Given the description of an element on the screen output the (x, y) to click on. 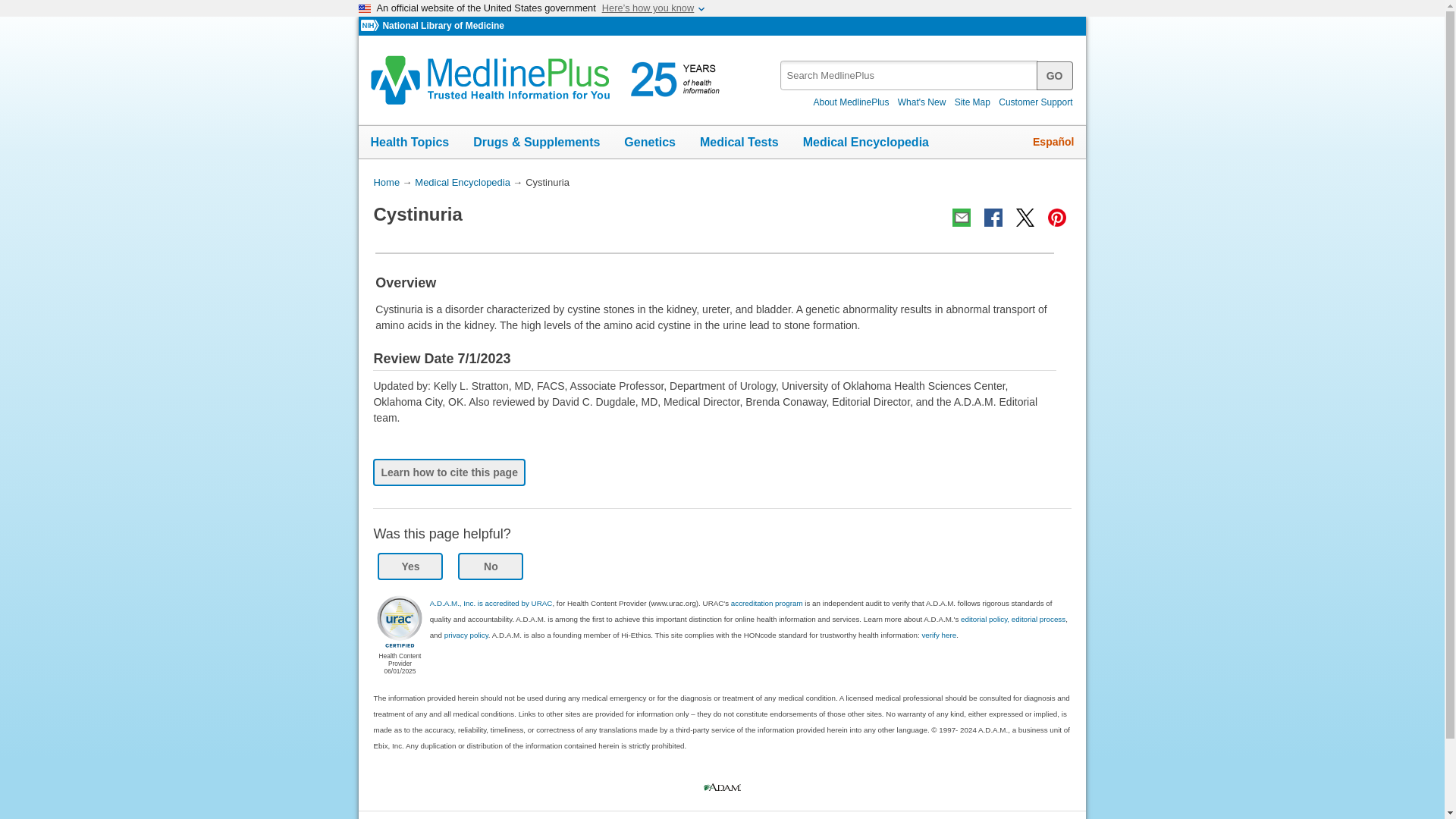
National Institutes of Health (371, 26)
External link: please review our privacy policy. (399, 621)
GO (1054, 74)
Search MedlinePlus (1054, 74)
Facebook (992, 217)
Email this page to a friend (961, 217)
Customer Support (1035, 102)
What's New (922, 102)
editorial policy, editorial process (1012, 619)
Home (385, 182)
A.D.A.M., Inc. is accredited by URAC (491, 602)
About MedlinePlus (851, 102)
Genetics (649, 142)
MedlinePlus Trusted Health Information for You (550, 79)
